Given the description of an element on the screen output the (x, y) to click on. 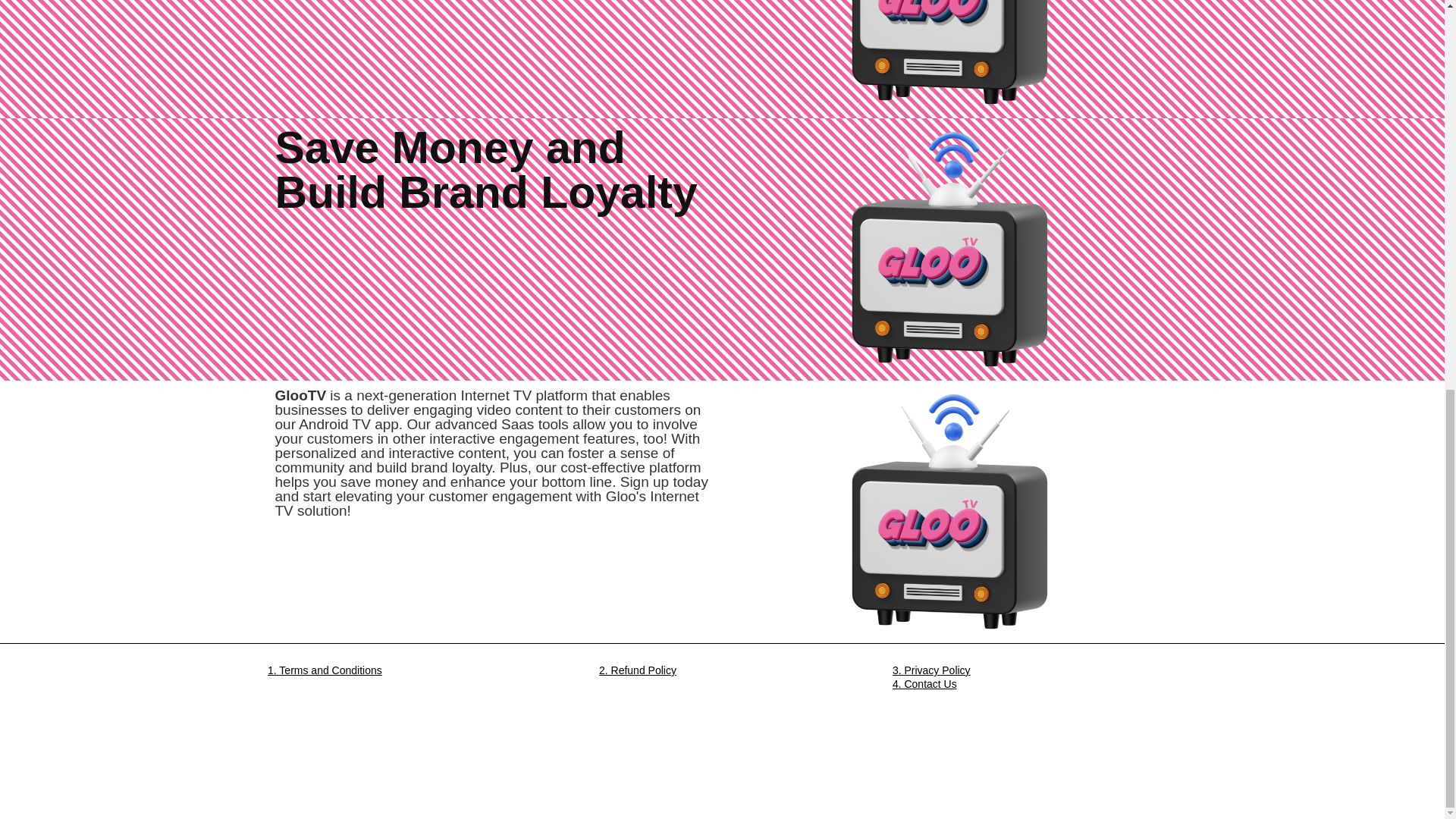
4. Contact Us (924, 684)
2. Refund Policy (637, 670)
1. Terms and Conditions (324, 670)
3. Privacy Policy (931, 670)
